Given the description of an element on the screen output the (x, y) to click on. 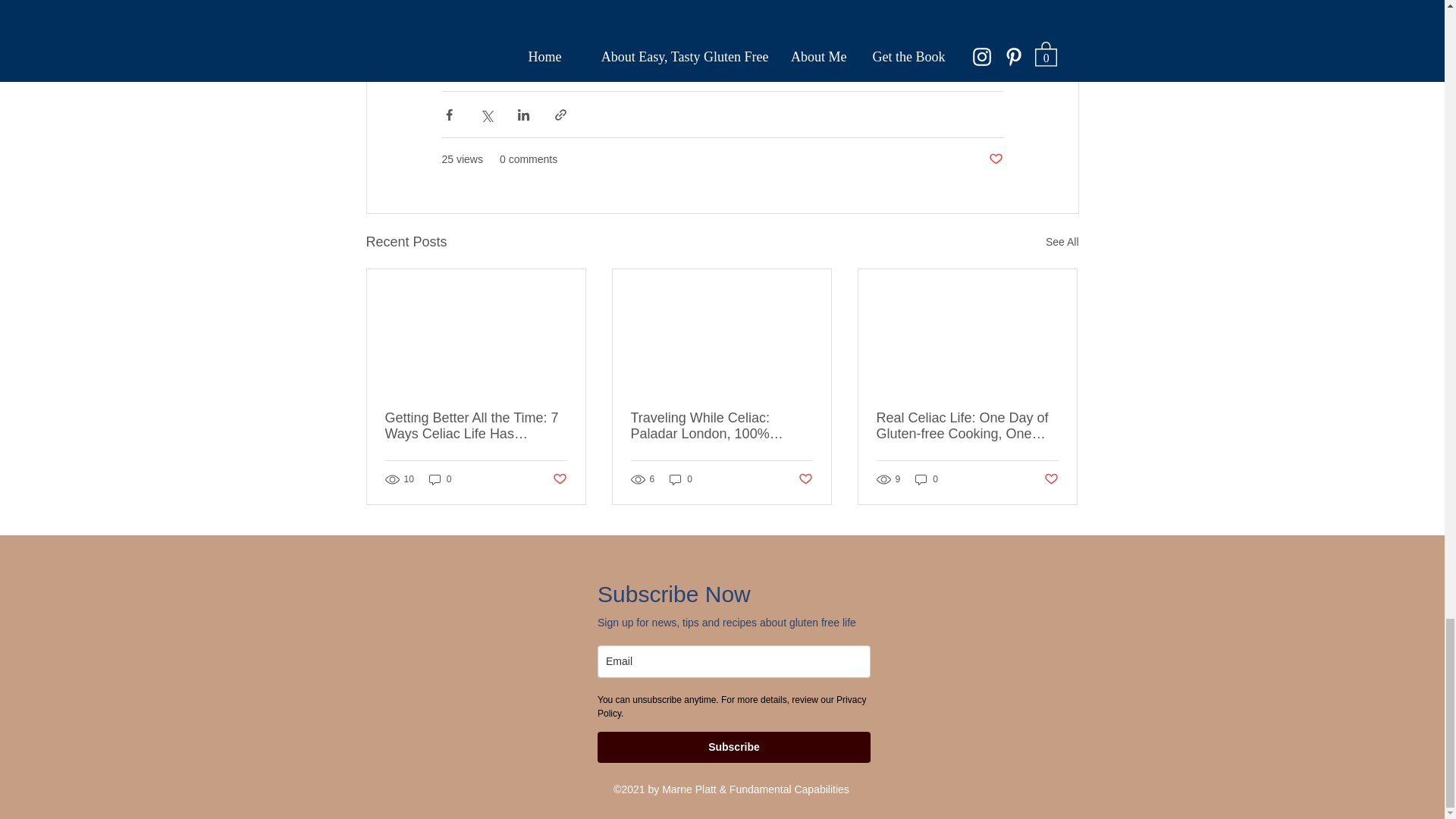
Gluten free cookbook (821, 27)
Delicious gluten free dinner (867, 56)
easy gluten free cooking (508, 56)
celiac lifestyle (585, 27)
gluten free recipes (941, 27)
gluten-free living (738, 56)
Embedded Content (732, 676)
easy tasty gluten free (694, 27)
Gluten Free diet (489, 27)
gluten free meals (632, 56)
